Given the description of an element on the screen output the (x, y) to click on. 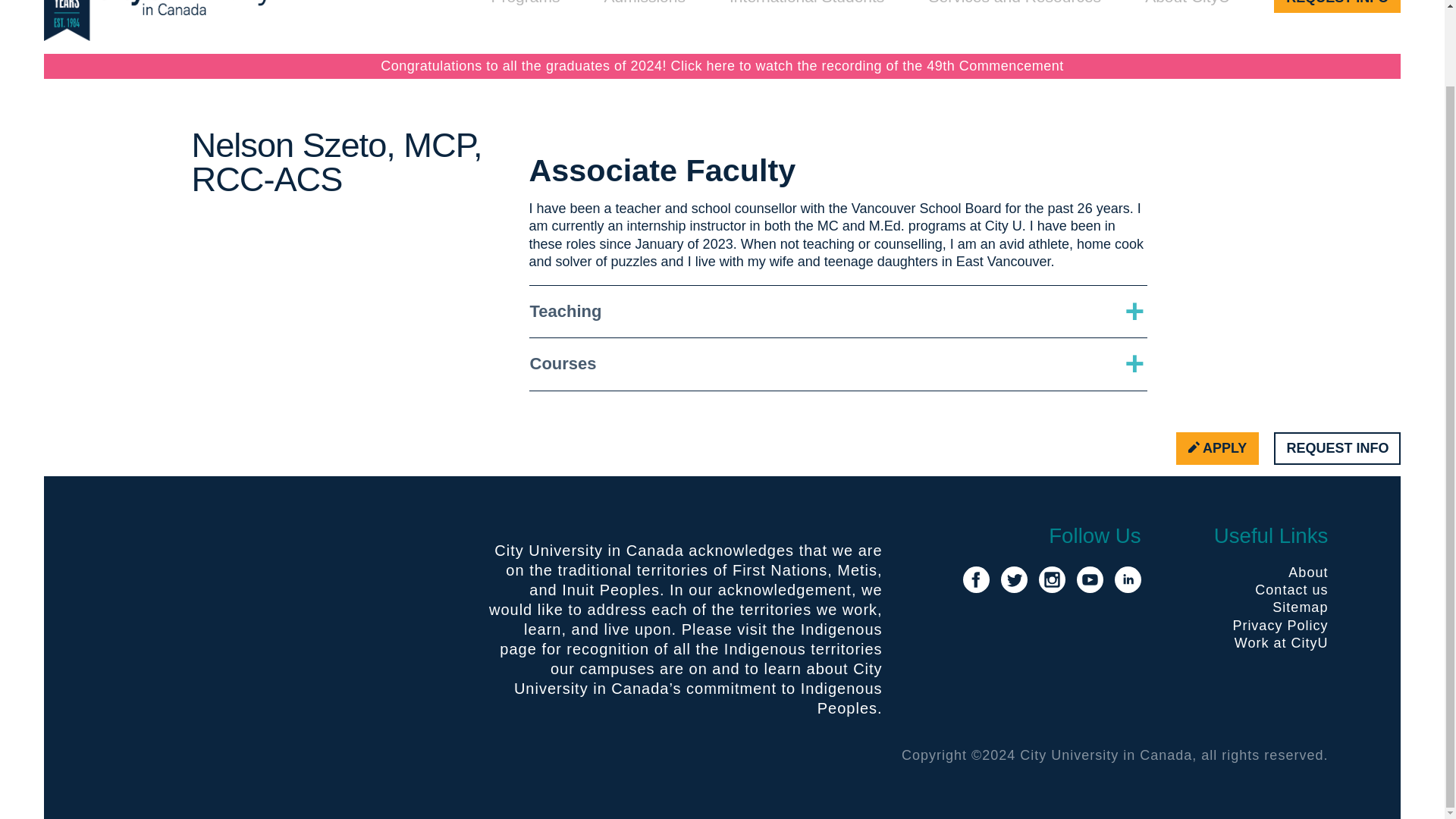
linkedin icon (1128, 579)
facebook icon (976, 579)
twitter icon (1014, 579)
youtube icon (1090, 579)
instagram icon (1052, 579)
